Given the description of an element on the screen output the (x, y) to click on. 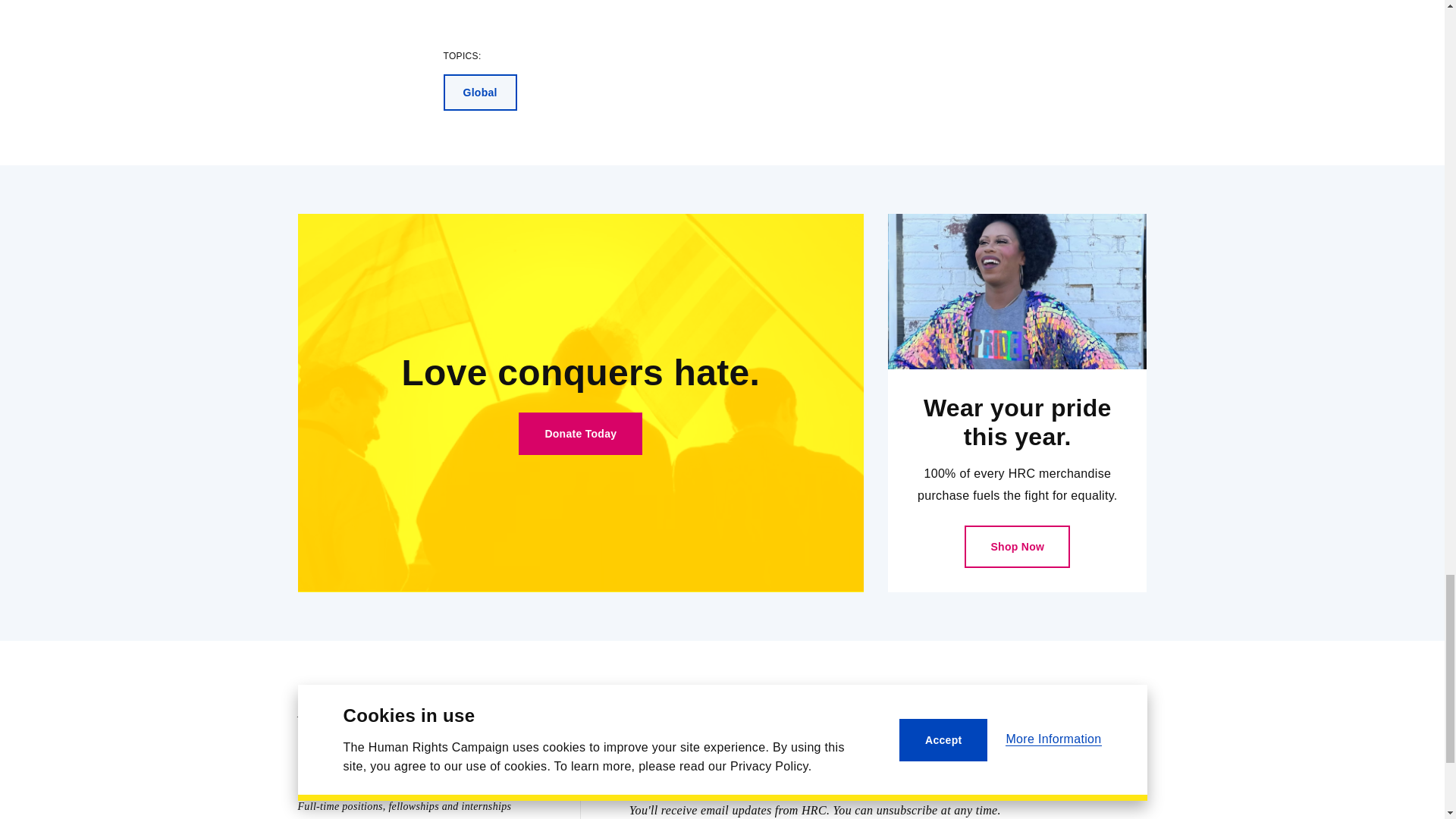
Donate Today (580, 433)
Sign Me Up (1091, 766)
Global (479, 92)
Shop Now (1016, 546)
